Given the description of an element on the screen output the (x, y) to click on. 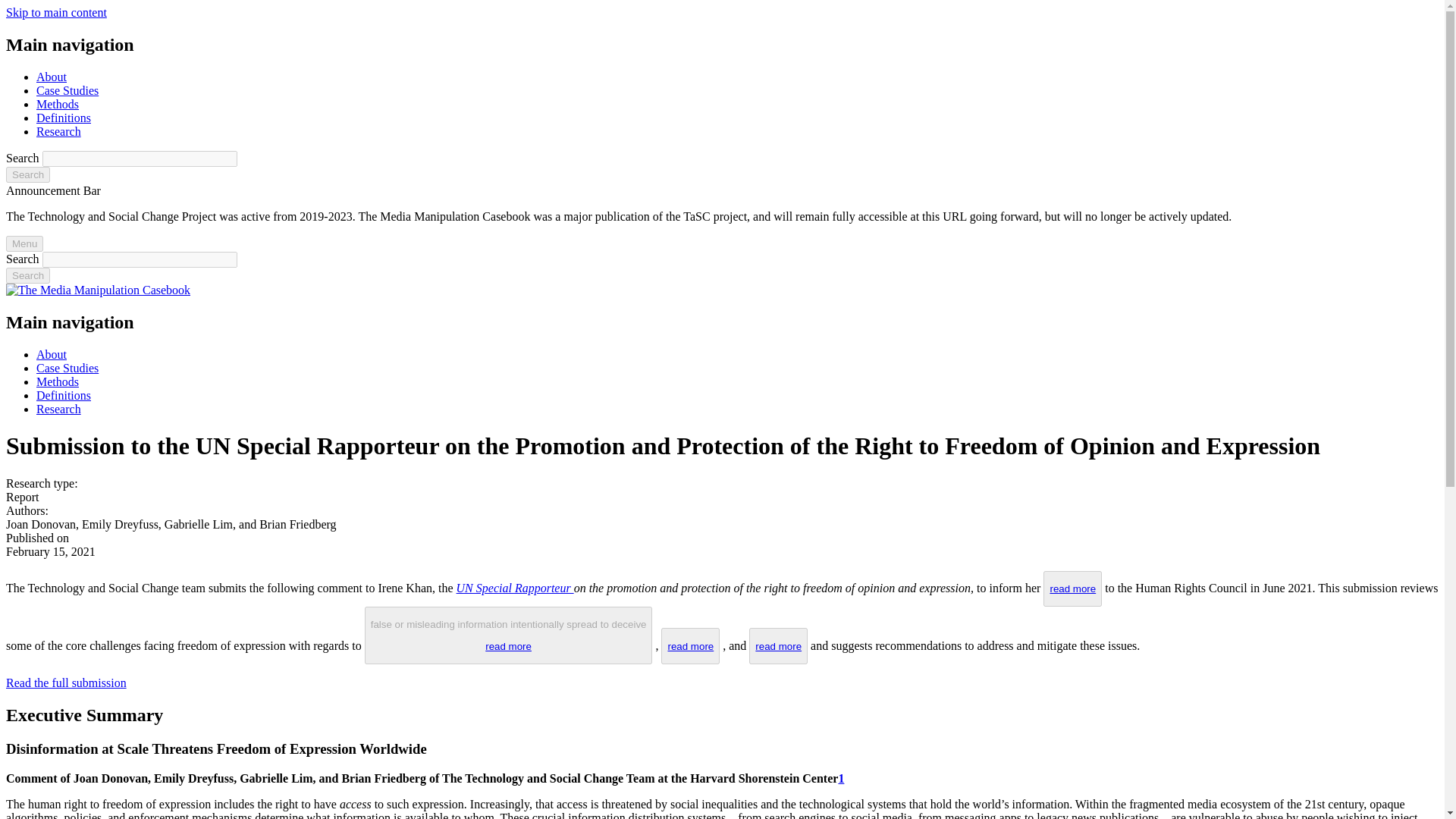
About (51, 76)
Read the full submission (65, 682)
Definitions (63, 395)
Methods (57, 381)
read more (507, 645)
Search (27, 275)
Search (27, 275)
read more (1072, 588)
Case Studies (67, 90)
Menu (24, 243)
